Given the description of an element on the screen output the (x, y) to click on. 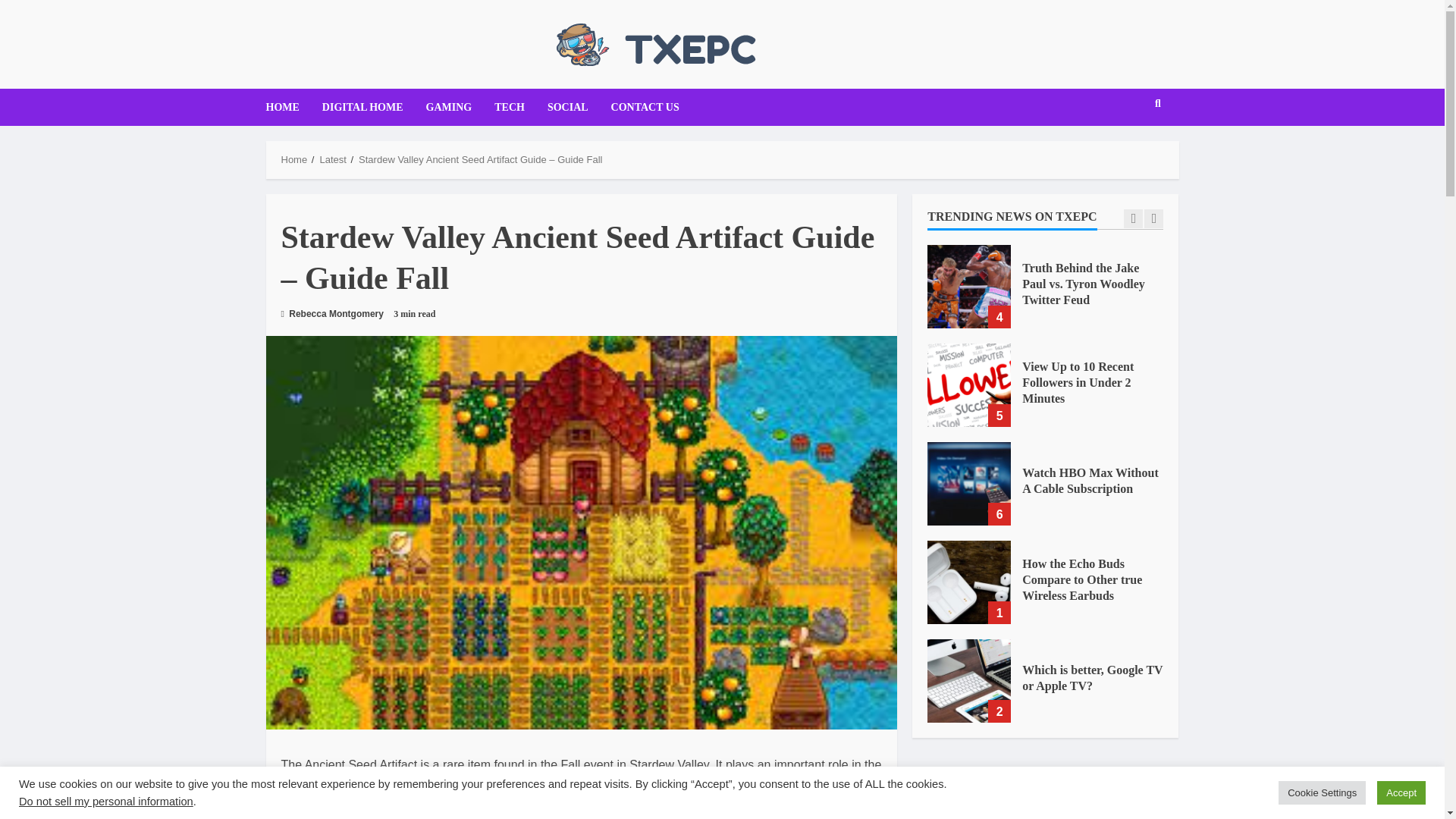
DIGITAL HOME (362, 107)
TECH (509, 107)
CONTACT US (639, 107)
Home (294, 159)
Latest (332, 159)
Rebecca Montgomery (331, 314)
GAMING (448, 107)
HOME (287, 107)
Search (1128, 149)
SOCIAL (567, 107)
